Given the description of an element on the screen output the (x, y) to click on. 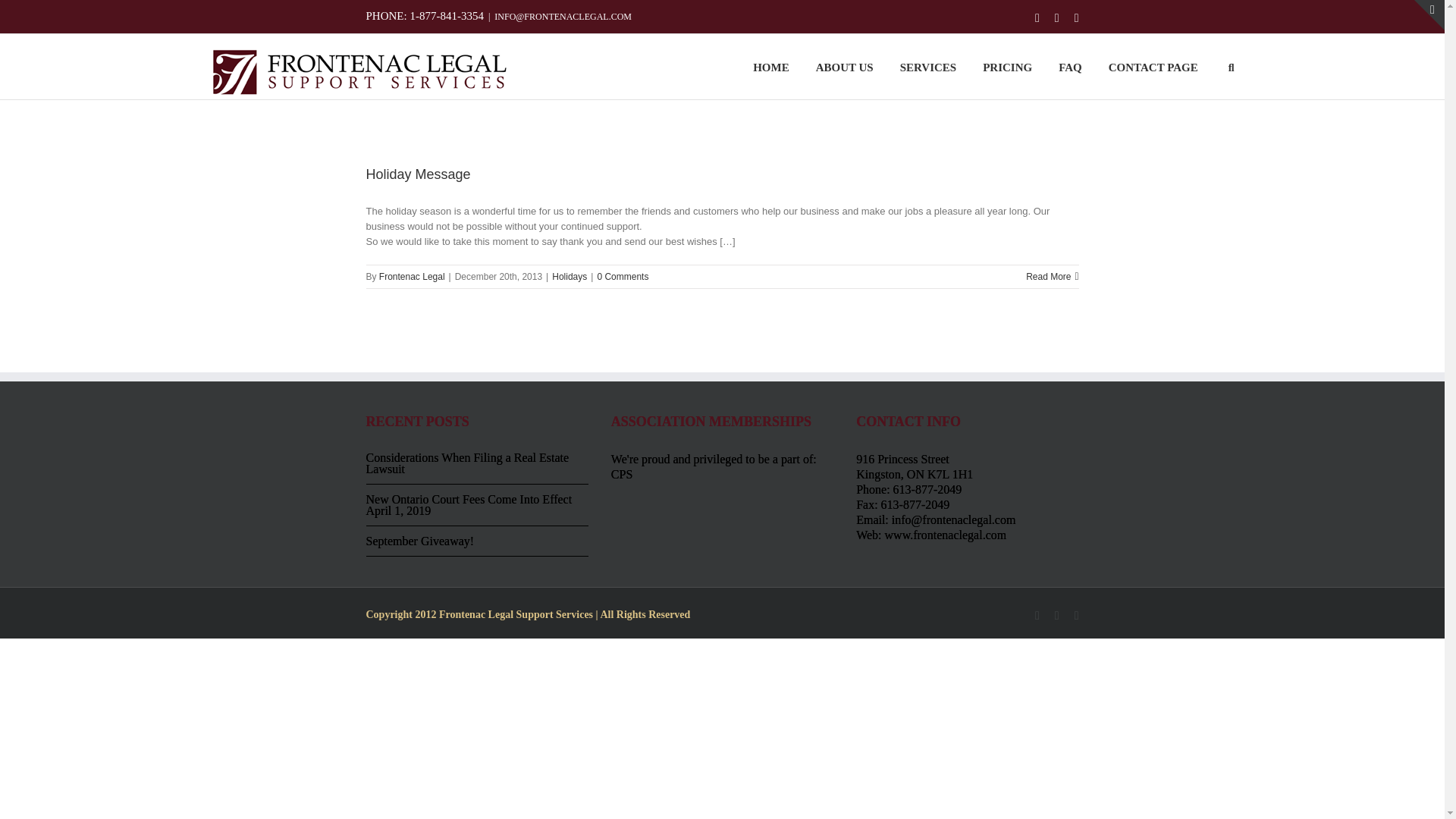
Holiday Message (417, 174)
CONTACT PAGE (1153, 66)
Posts by Frontenac Legal (411, 276)
